Given the description of an element on the screen output the (x, y) to click on. 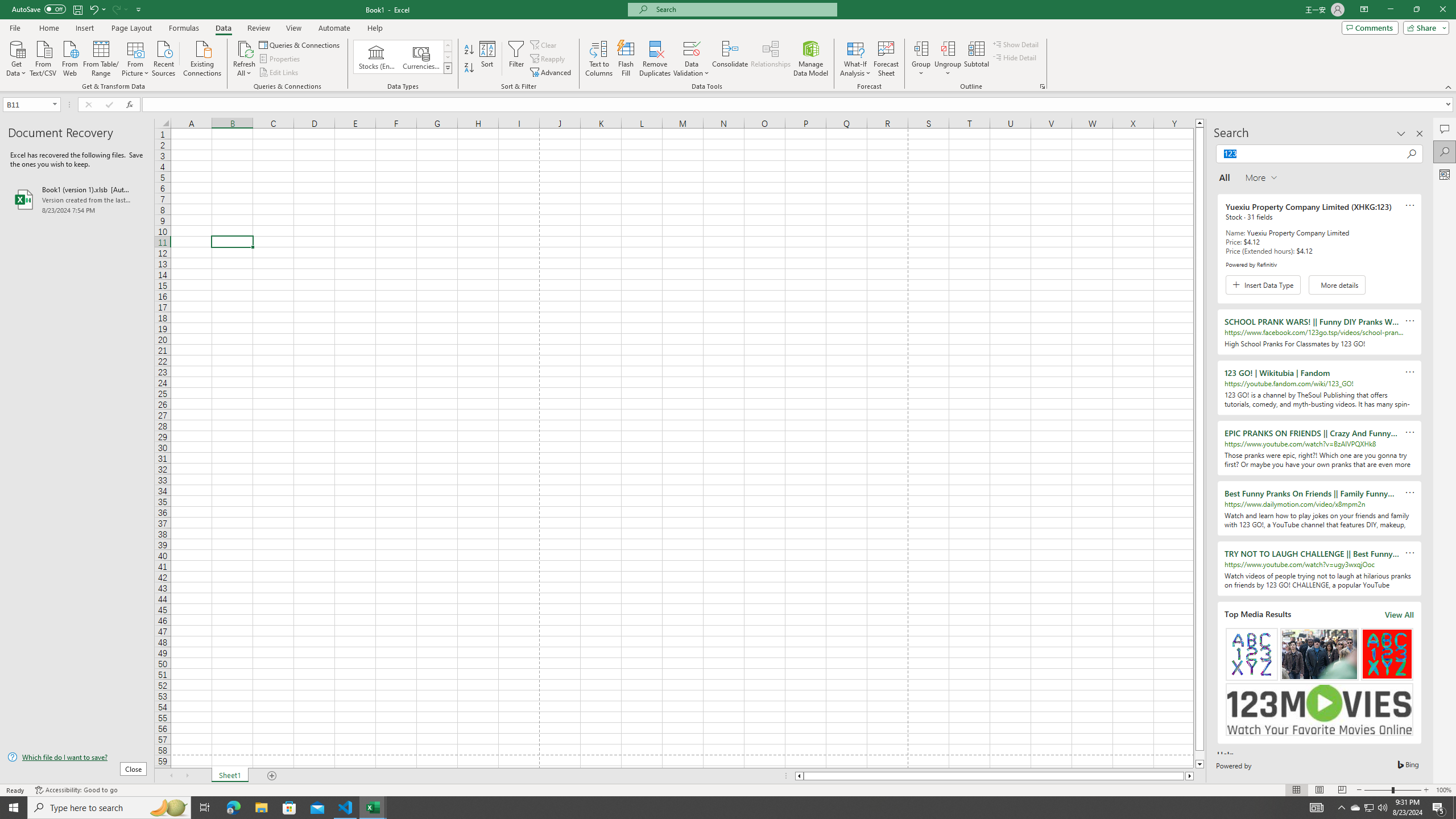
Remove Duplicates (654, 58)
Sort A to Z (469, 49)
Group and Outline Settings (1042, 85)
Analyze Data (1444, 173)
Manage Data Model (810, 58)
What-If Analysis (855, 58)
Advanced... (551, 72)
